Given the description of an element on the screen output the (x, y) to click on. 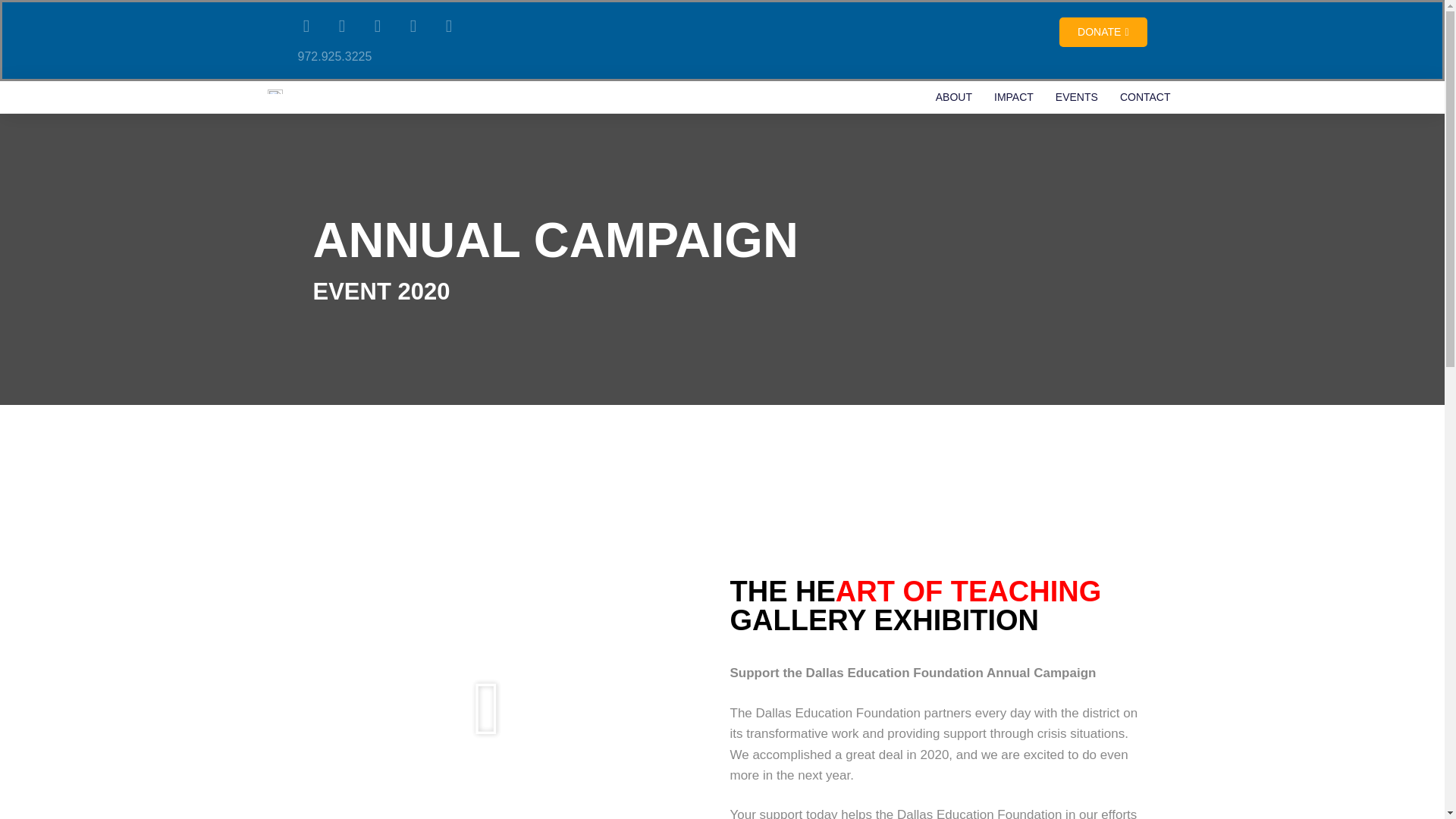
DONATE (1103, 31)
IMPACT (1014, 96)
EVENTS (1076, 96)
CONTACT (1145, 96)
ABOUT (953, 96)
